Given the description of an element on the screen output the (x, y) to click on. 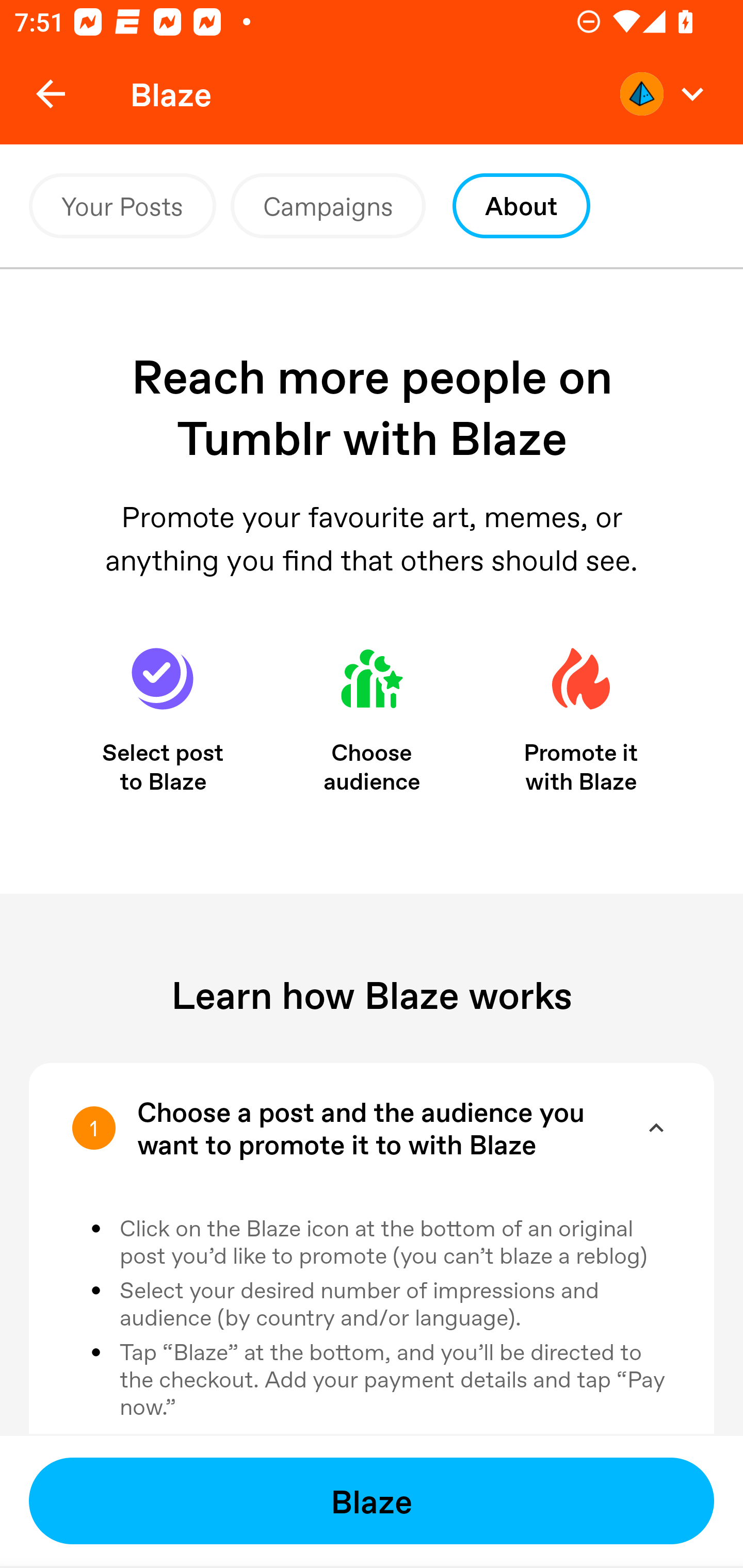
Back (50, 93)
Your Posts (122, 206)
Campaigns (328, 206)
Collapse (655, 1128)
Blaze (371, 1501)
